Given the description of an element on the screen output the (x, y) to click on. 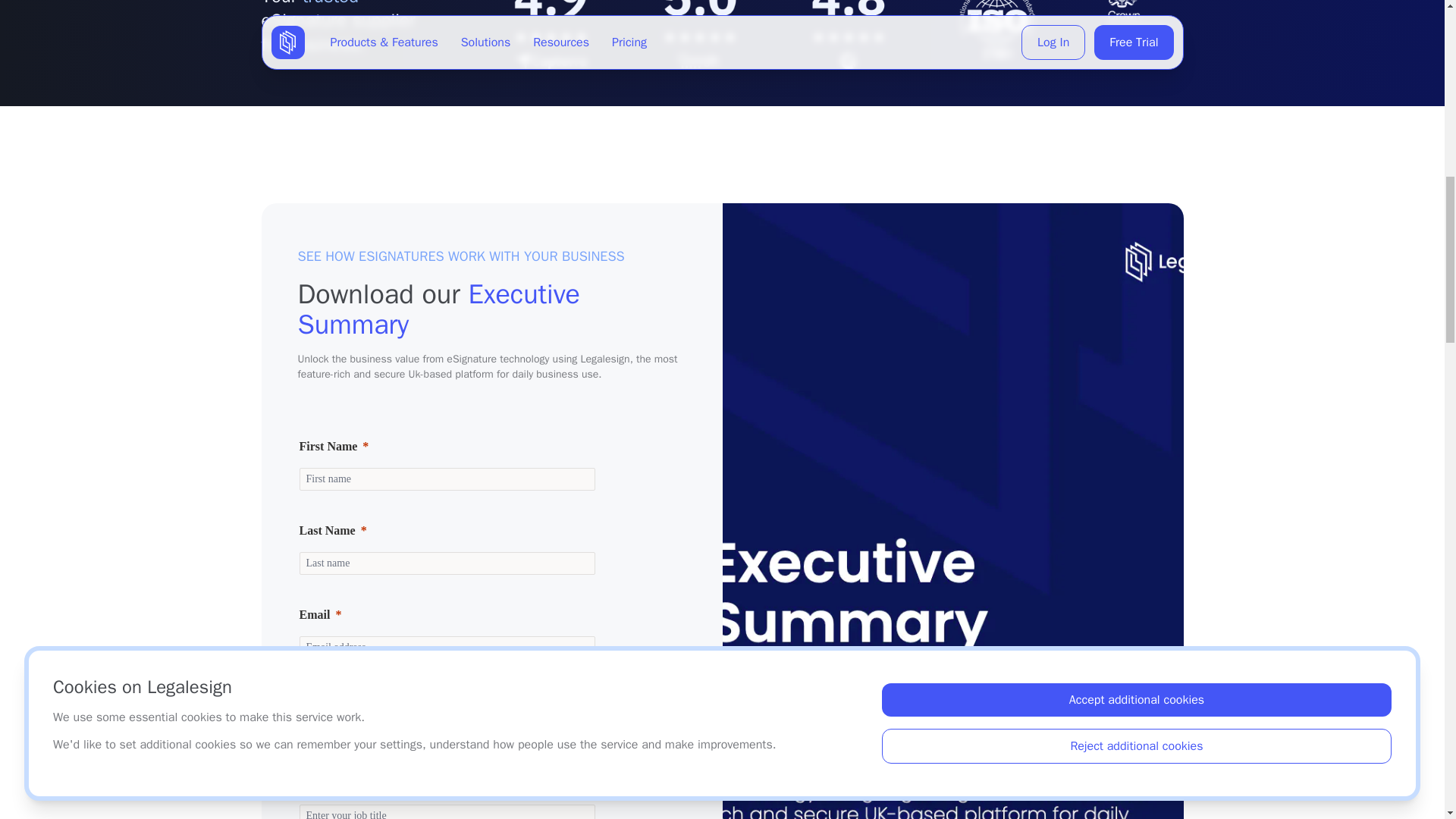
First Name (446, 446)
Address 1: Phone (446, 699)
Last Name (446, 530)
Last Name (446, 563)
Job Title (446, 782)
Email (446, 647)
Job Title (446, 811)
Email (446, 615)
Address 1: Phone (446, 731)
First Name (446, 478)
